Given the description of an element on the screen output the (x, y) to click on. 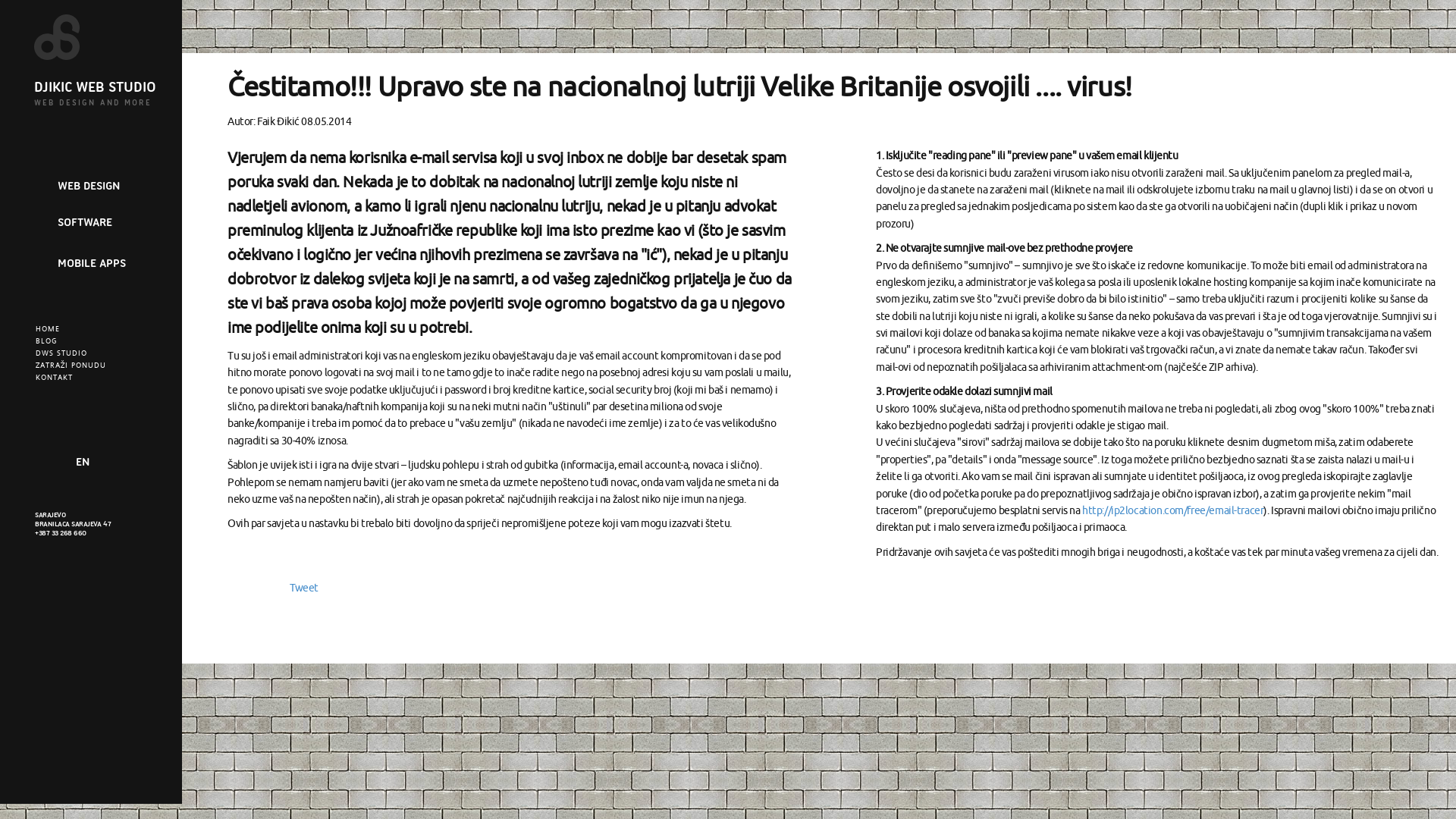
DWS STUDIO Element type: text (61, 352)
Like our Facebook page Element type: hover (46, 462)
MOBILE APPS Element type: text (91, 262)
WEB DESIGN AND MORE Element type: text (92, 102)
Tweet Element type: text (303, 588)
KONTAKT Element type: text (53, 377)
http://ip2location.com/free/email-tracer Element type: text (1172, 510)
SOFTWARE Element type: text (84, 222)
EN Element type: text (82, 462)
WEB DESIGN Element type: text (88, 185)
HOME Element type: text (47, 328)
BLOG Element type: text (46, 340)
Djikic Web Studio Element type: hover (71, 36)
DJIKIC WEB STUDIO Element type: text (95, 86)
